Given the description of an element on the screen output the (x, y) to click on. 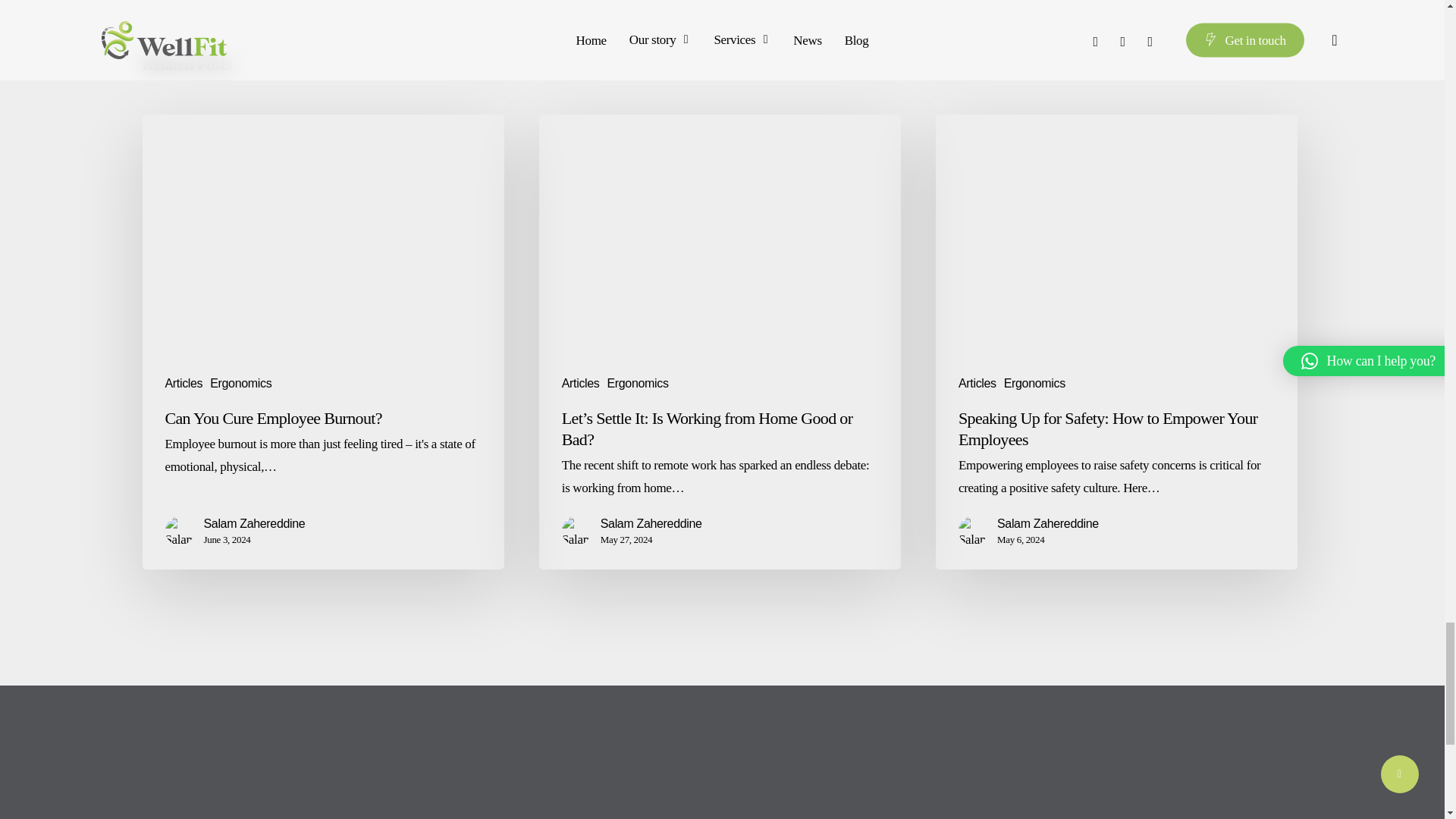
Articles (580, 383)
Ergonomics (637, 383)
Salam Zahereddine (253, 524)
Articles (184, 383)
Ergonomics (239, 383)
Salam Zahereddine (650, 524)
Articles (976, 383)
